Given the description of an element on the screen output the (x, y) to click on. 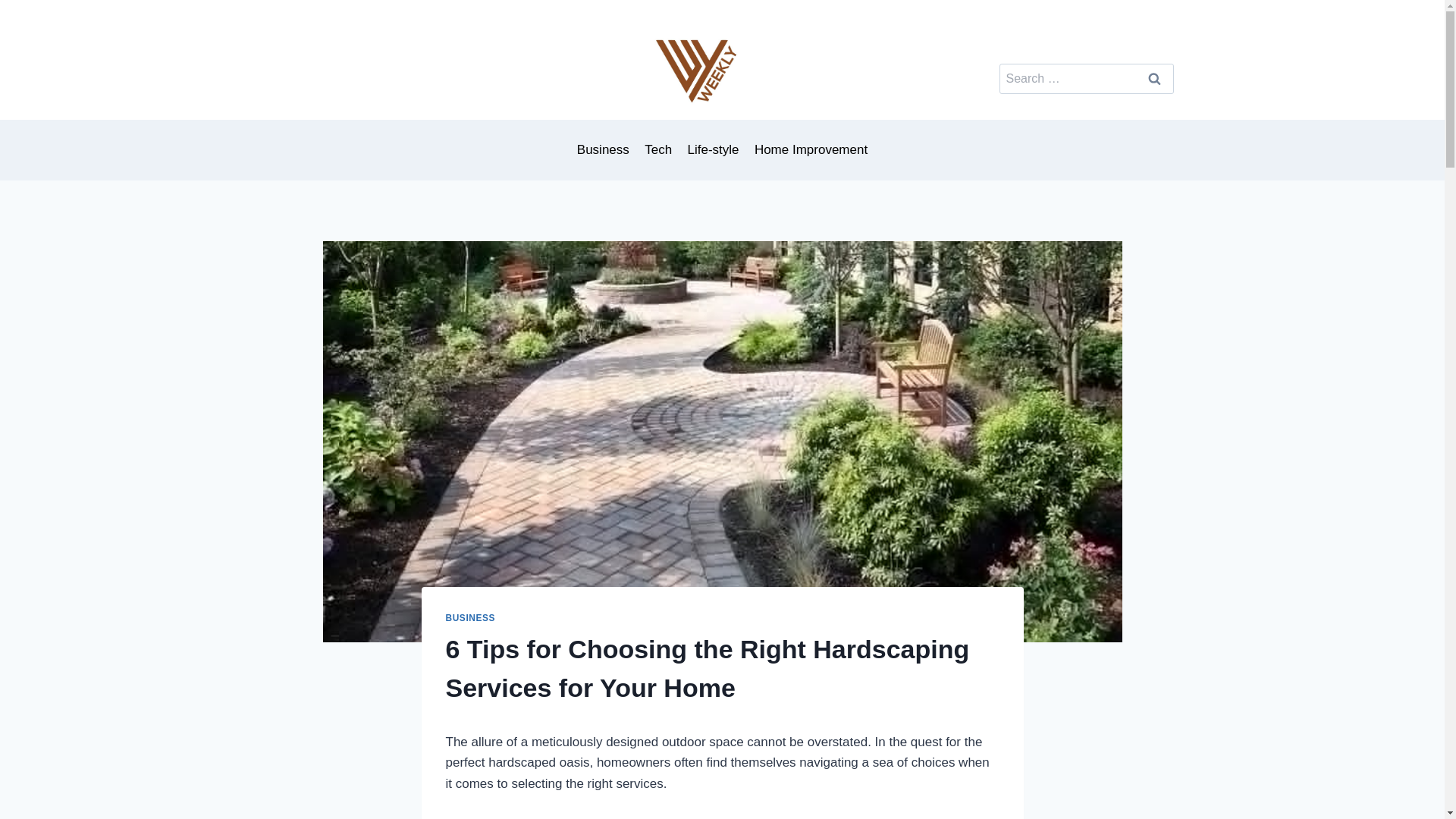
Search (1154, 78)
Business (603, 149)
Home Improvement (811, 149)
Search (1154, 78)
Life-style (712, 149)
Search (1154, 78)
Tech (658, 149)
BUSINESS (470, 617)
